Given the description of an element on the screen output the (x, y) to click on. 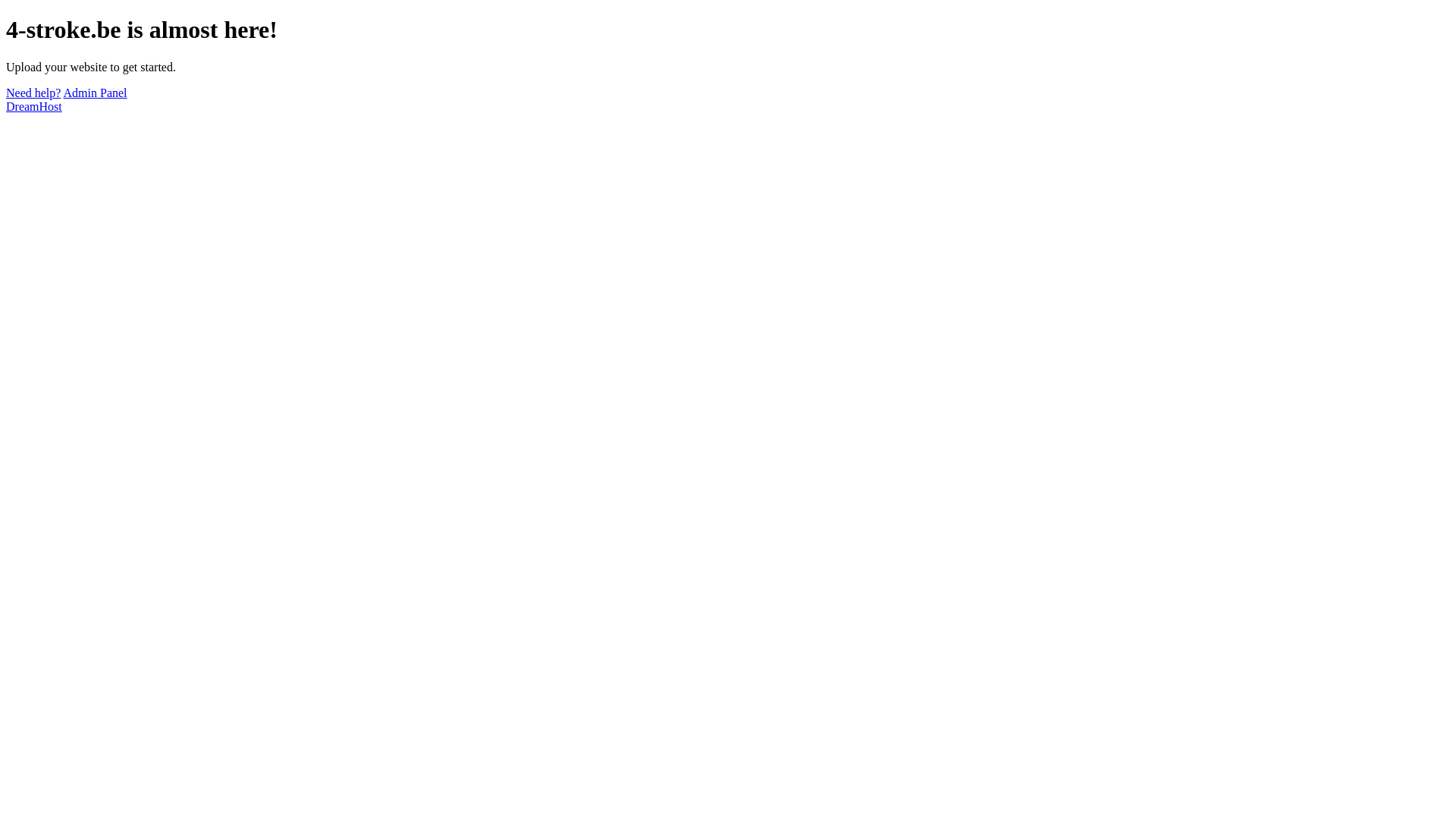
DreamHost Element type: text (34, 106)
Admin Panel Element type: text (95, 92)
Need help? Element type: text (33, 92)
